Given the description of an element on the screen output the (x, y) to click on. 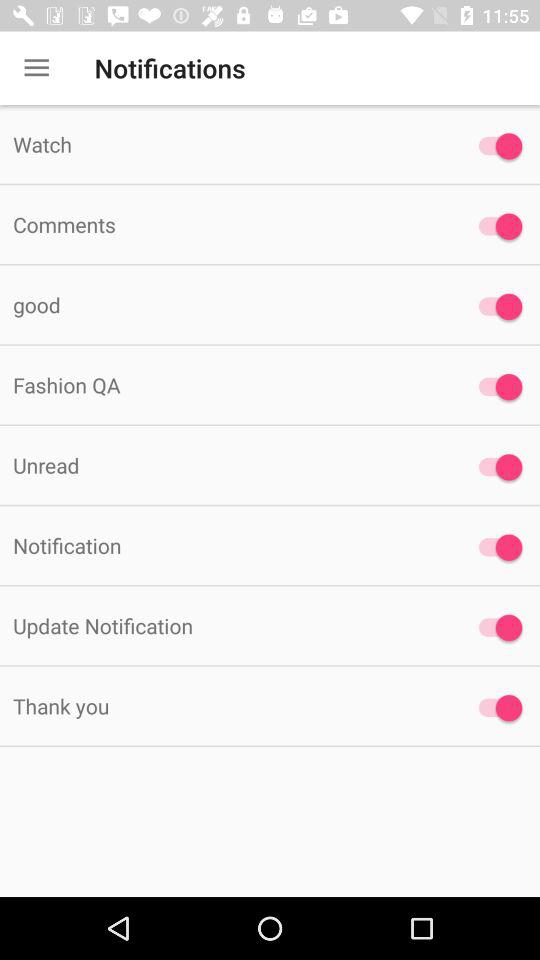
search it (495, 547)
